Given the description of an element on the screen output the (x, y) to click on. 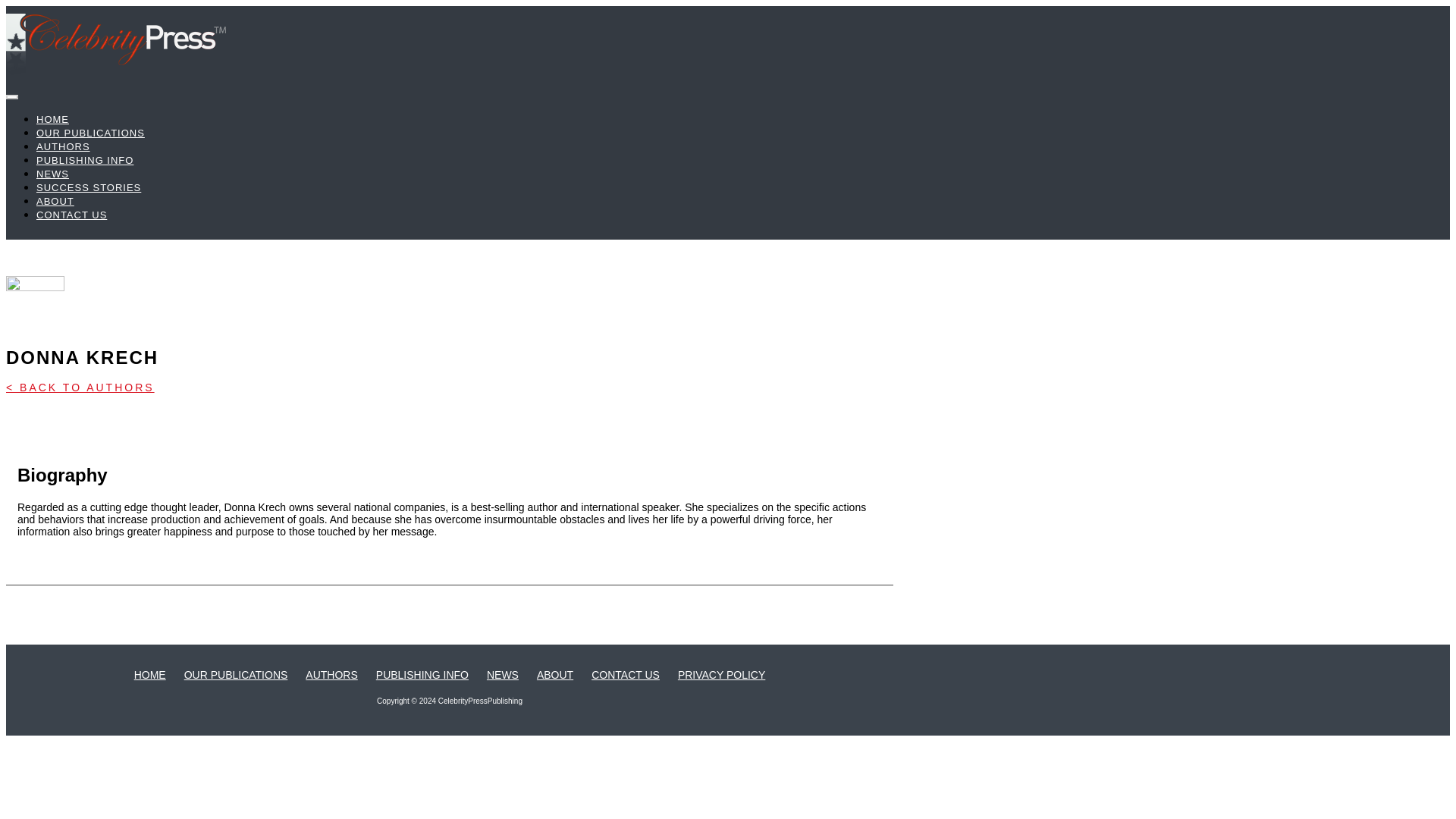
PUBLISHING INFO (421, 674)
PRIVACY POLICY (721, 674)
CONTACT US (625, 674)
AUTHORS (330, 674)
ABOUT (55, 201)
SUCCESS STORIES (88, 187)
OUR PUBLICATIONS (236, 674)
NEWS (52, 173)
HOME (52, 119)
ABOUT (555, 674)
